Given the description of an element on the screen output the (x, y) to click on. 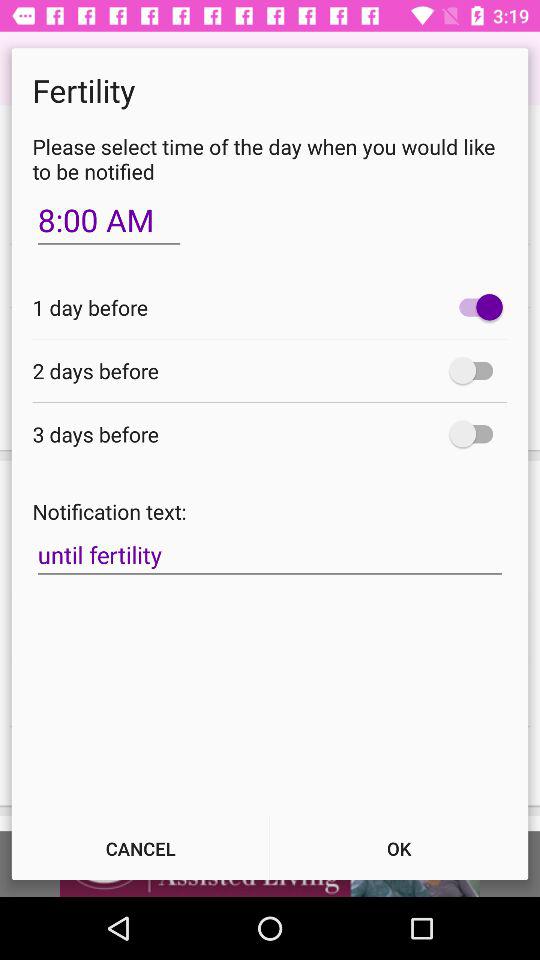
jump until the cancel item (140, 848)
